Given the description of an element on the screen output the (x, y) to click on. 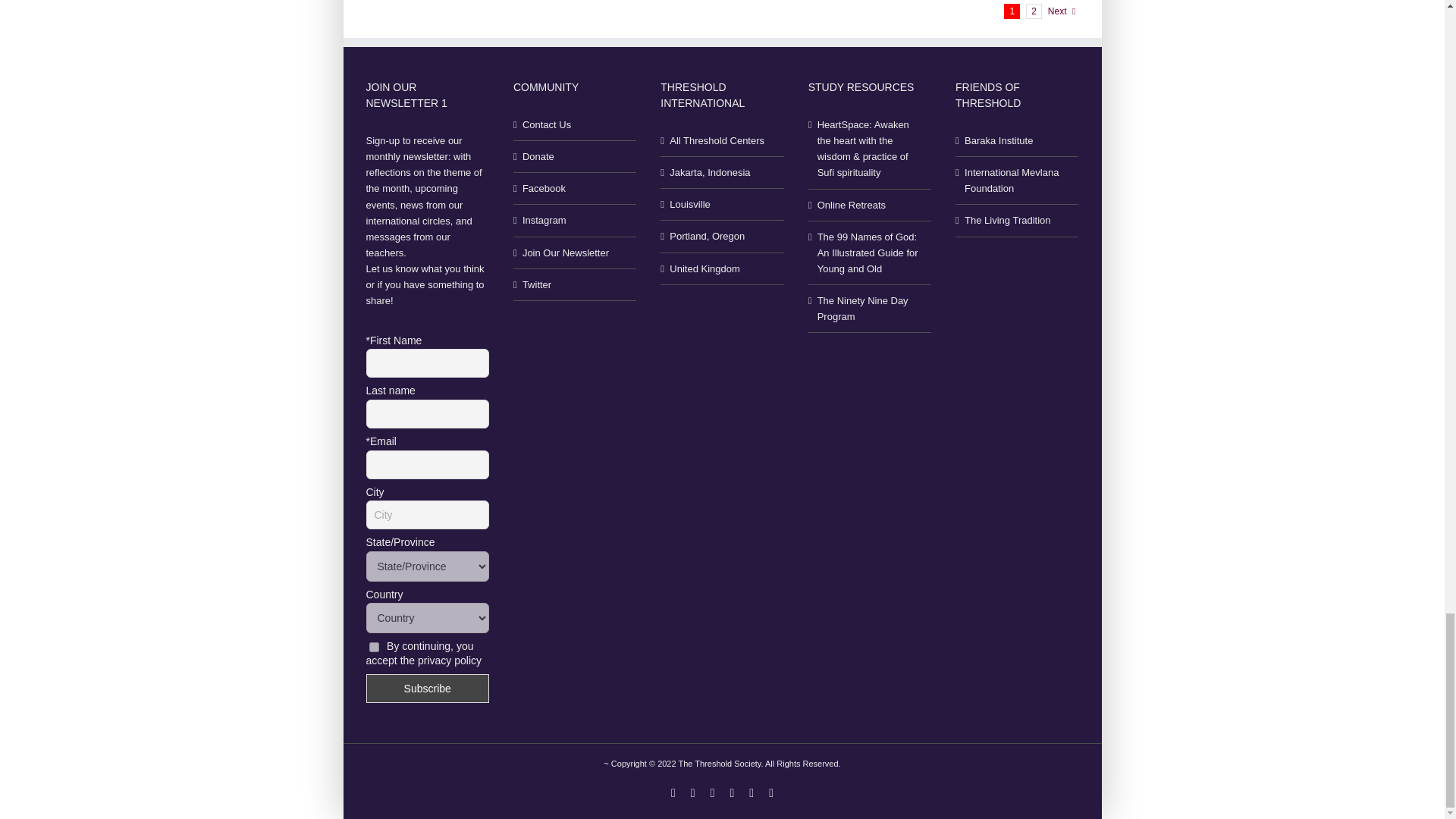
Threshold, UK: London, Huddersfield, Reigate, Cardiff (722, 268)
Subscribe (426, 688)
Threshold Society on Twitter (575, 284)
Instagram (575, 220)
Mother Dergah (722, 204)
on (373, 646)
Threshold Society on Facebook (575, 188)
Join Our Newsletter (575, 252)
